Given the description of an element on the screen output the (x, y) to click on. 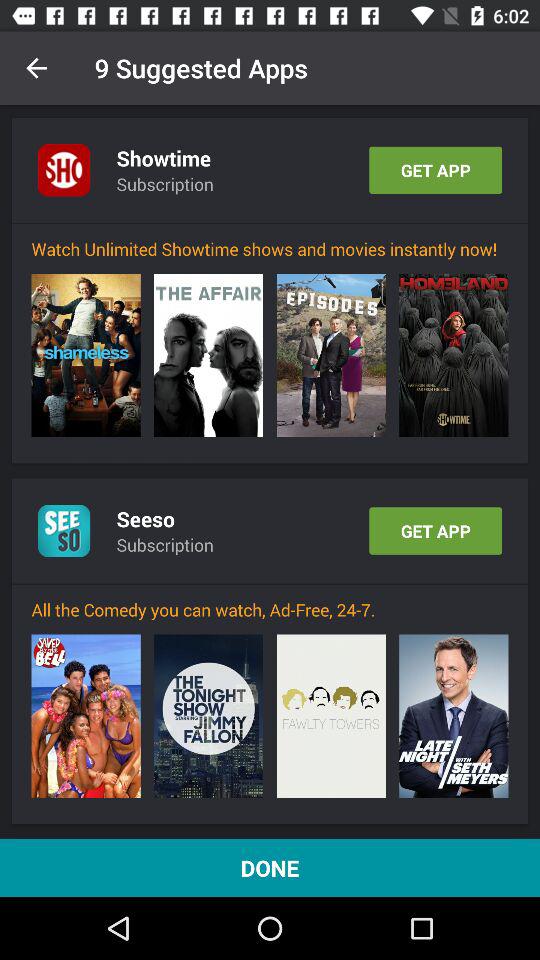
turn off the icon above the all the comedy icon (269, 584)
